Given the description of an element on the screen output the (x, y) to click on. 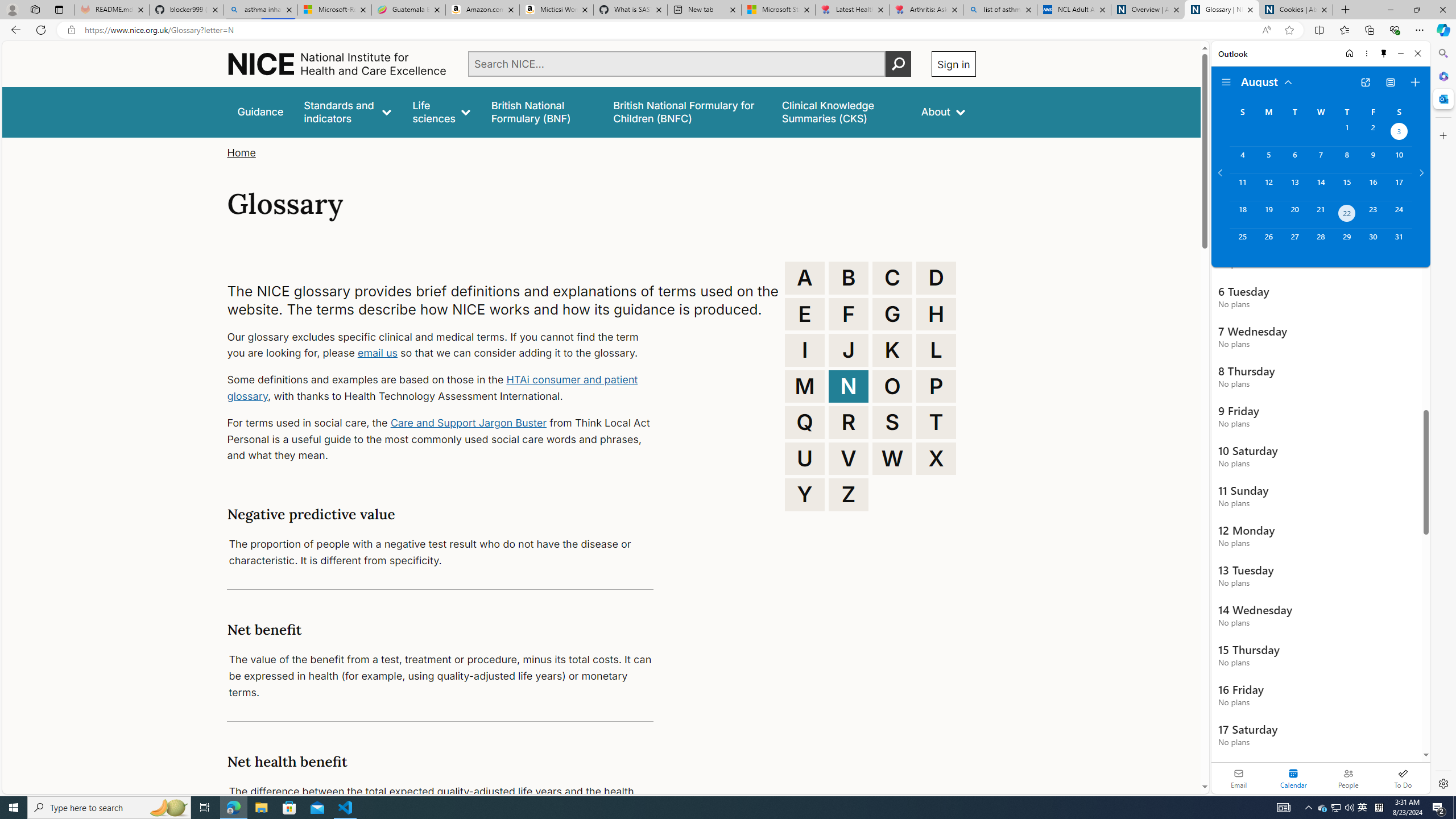
S (892, 422)
G (892, 313)
Thursday, August 8, 2024.  (1346, 159)
C (892, 277)
false (841, 111)
Close (1417, 53)
Friday, August 30, 2024.  (1372, 241)
Favorites (1344, 29)
V (848, 458)
Tuesday, August 27, 2024.  (1294, 241)
British National Formulary for Children (BNFC) (686, 111)
Saturday, August 10, 2024.  (1399, 159)
Close Customize pane (1442, 135)
Monday, August 19, 2024.  (1268, 214)
